Given the description of an element on the screen output the (x, y) to click on. 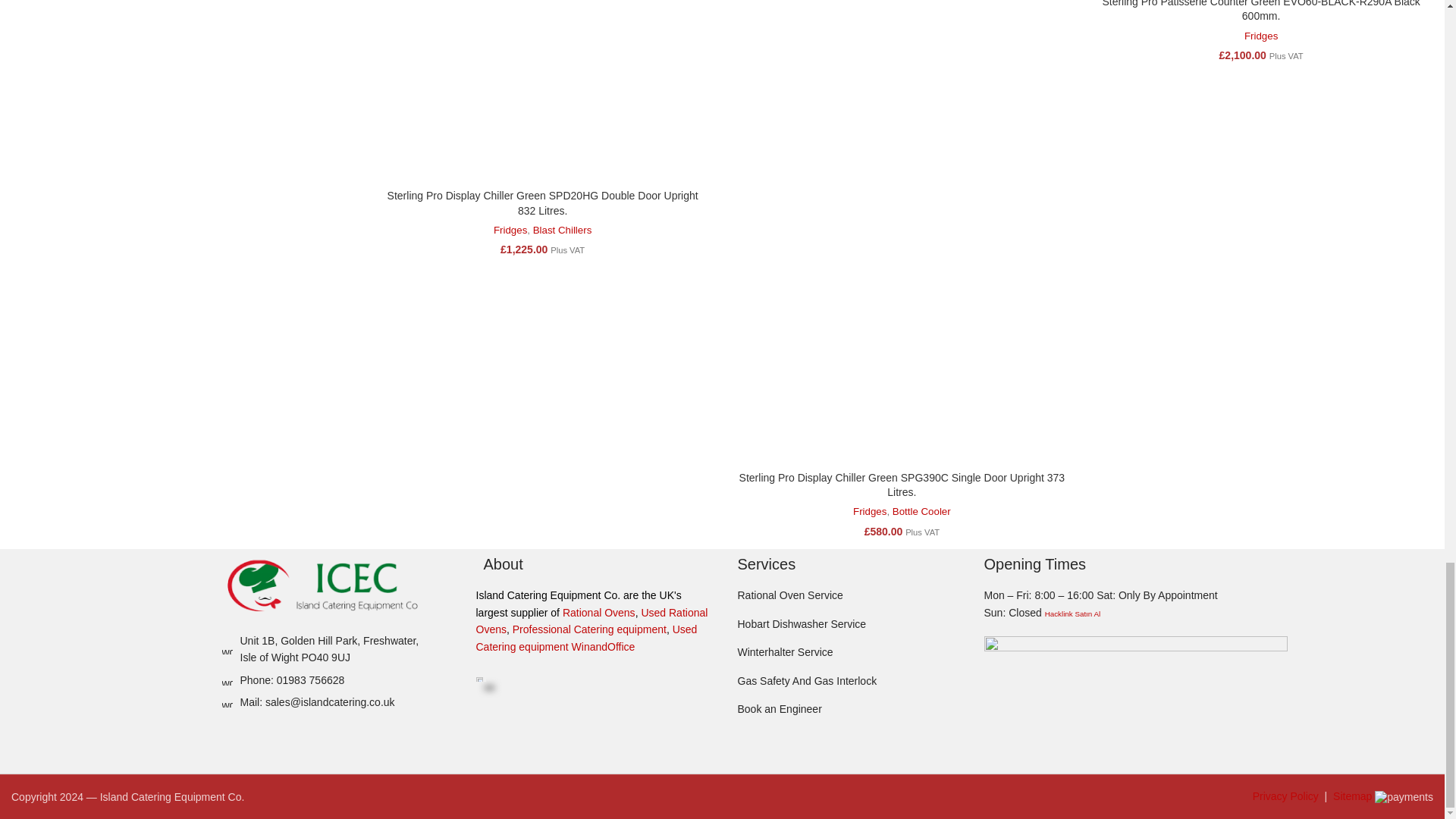
Privacy Policy (1285, 796)
wd-envelope-dark.svg (226, 701)
Sitemap (1352, 796)
wd-cursor-dark.svg (226, 648)
wd-phone-dark.svg (226, 679)
